Given the description of an element on the screen output the (x, y) to click on. 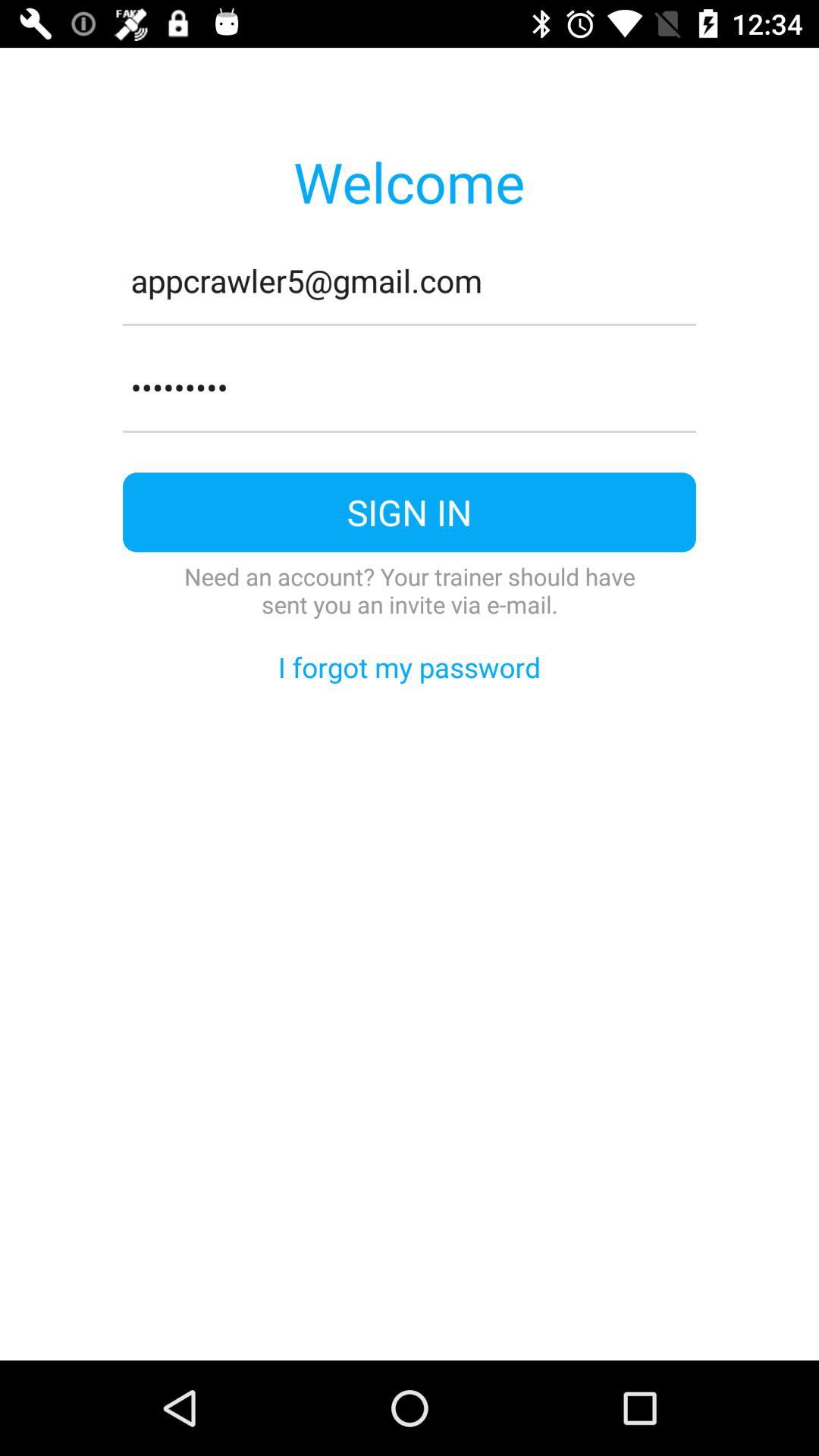
choose the icon below the need an account icon (409, 666)
